Given the description of an element on the screen output the (x, y) to click on. 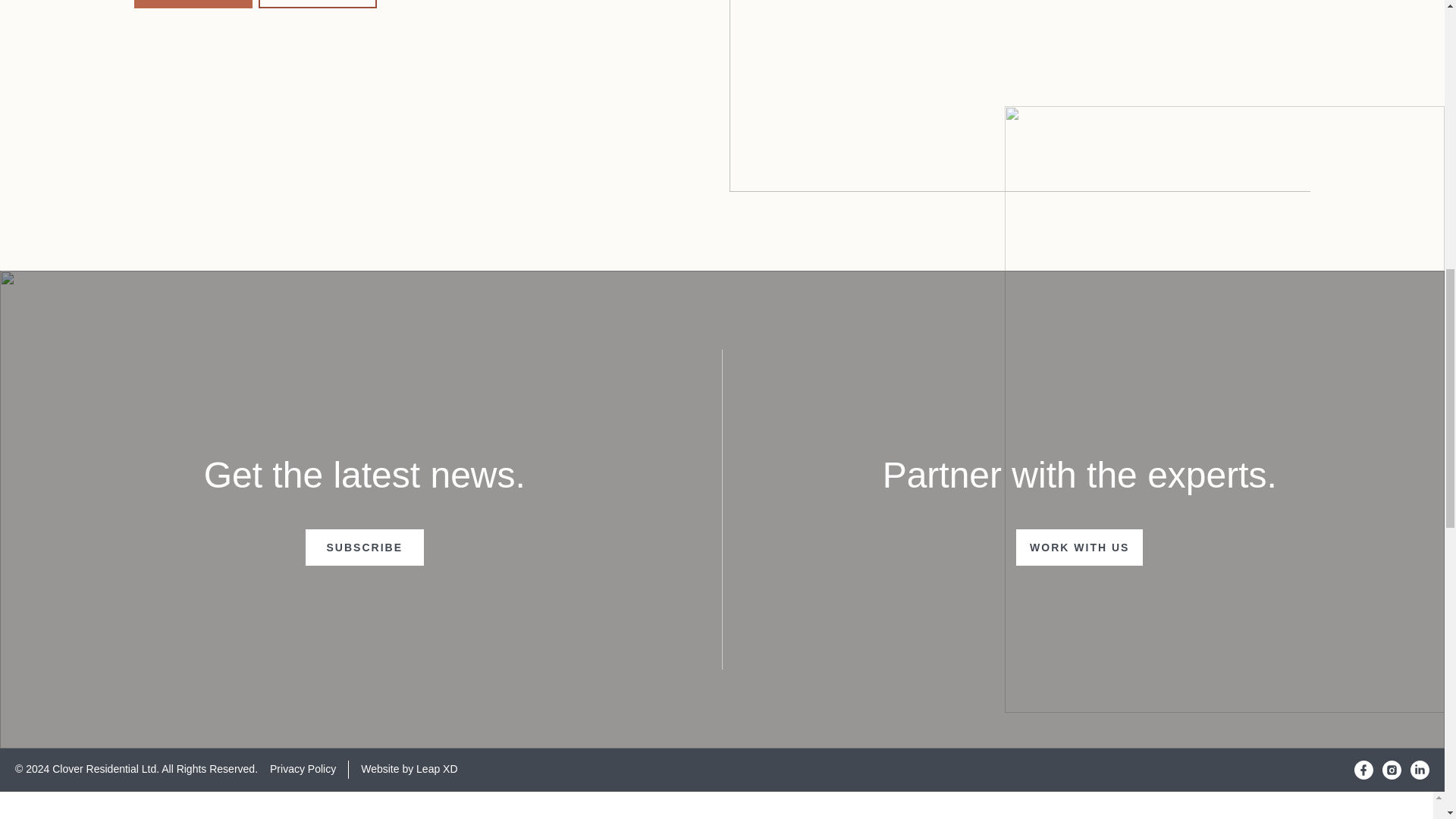
facebook icon (1363, 769)
Website by Leap XD (409, 768)
SUBSCRIBE (364, 547)
linkedin icon (1419, 769)
EMAIL (1419, 769)
250-383-7100 (318, 4)
Privacy Policy (192, 4)
instagram icon (302, 768)
WORK WITH US (1390, 769)
